Given the description of an element on the screen output the (x, y) to click on. 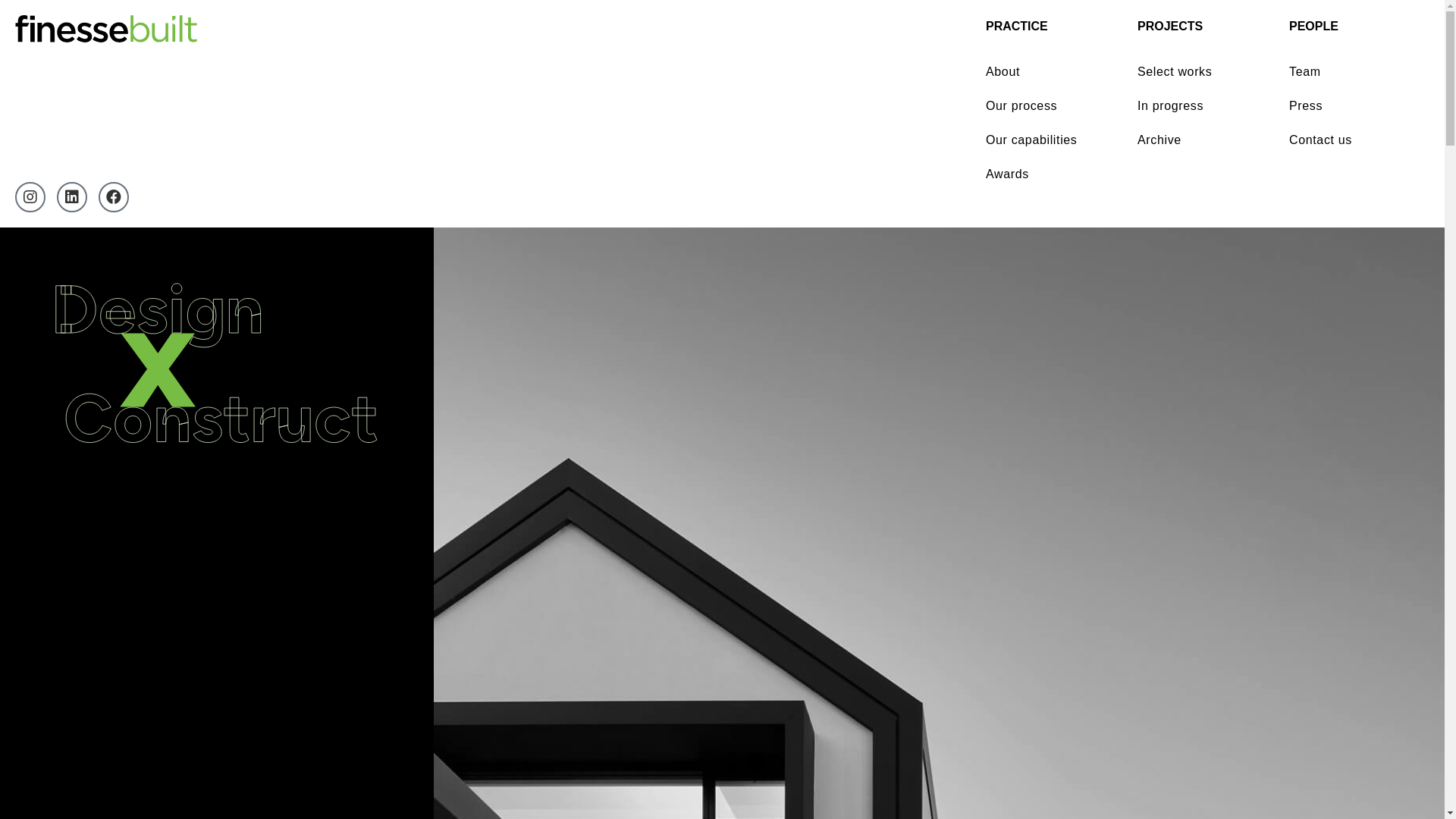
In progress Element type: text (1201, 105)
Our capabilities Element type: text (1050, 139)
Select works Element type: text (1201, 71)
Archive Element type: text (1201, 139)
PROJECTS Element type: text (1201, 26)
PRACTICE Element type: text (1050, 26)
Contact us Element type: text (1353, 139)
Team Element type: text (1353, 71)
Awards Element type: text (1050, 174)
Our process Element type: text (1050, 105)
Press Element type: text (1353, 105)
About Element type: text (1050, 71)
PEOPLE Element type: text (1353, 26)
